Given the description of an element on the screen output the (x, y) to click on. 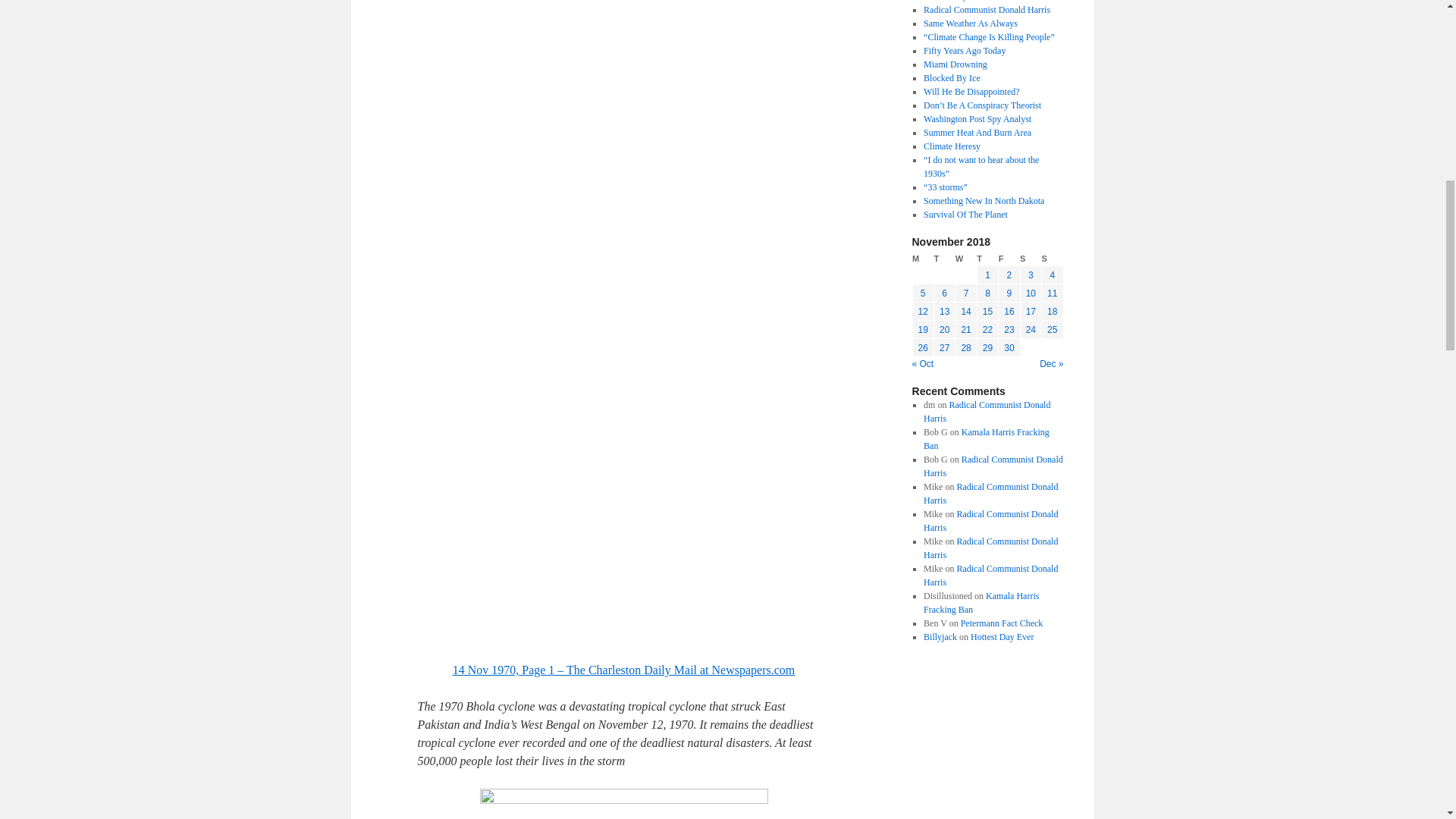
Thursday (986, 258)
Sunday (1052, 258)
Friday (1009, 258)
Monday (922, 258)
Saturday (1030, 258)
Tuesday (944, 258)
Wednesday (965, 258)
